Given the description of an element on the screen output the (x, y) to click on. 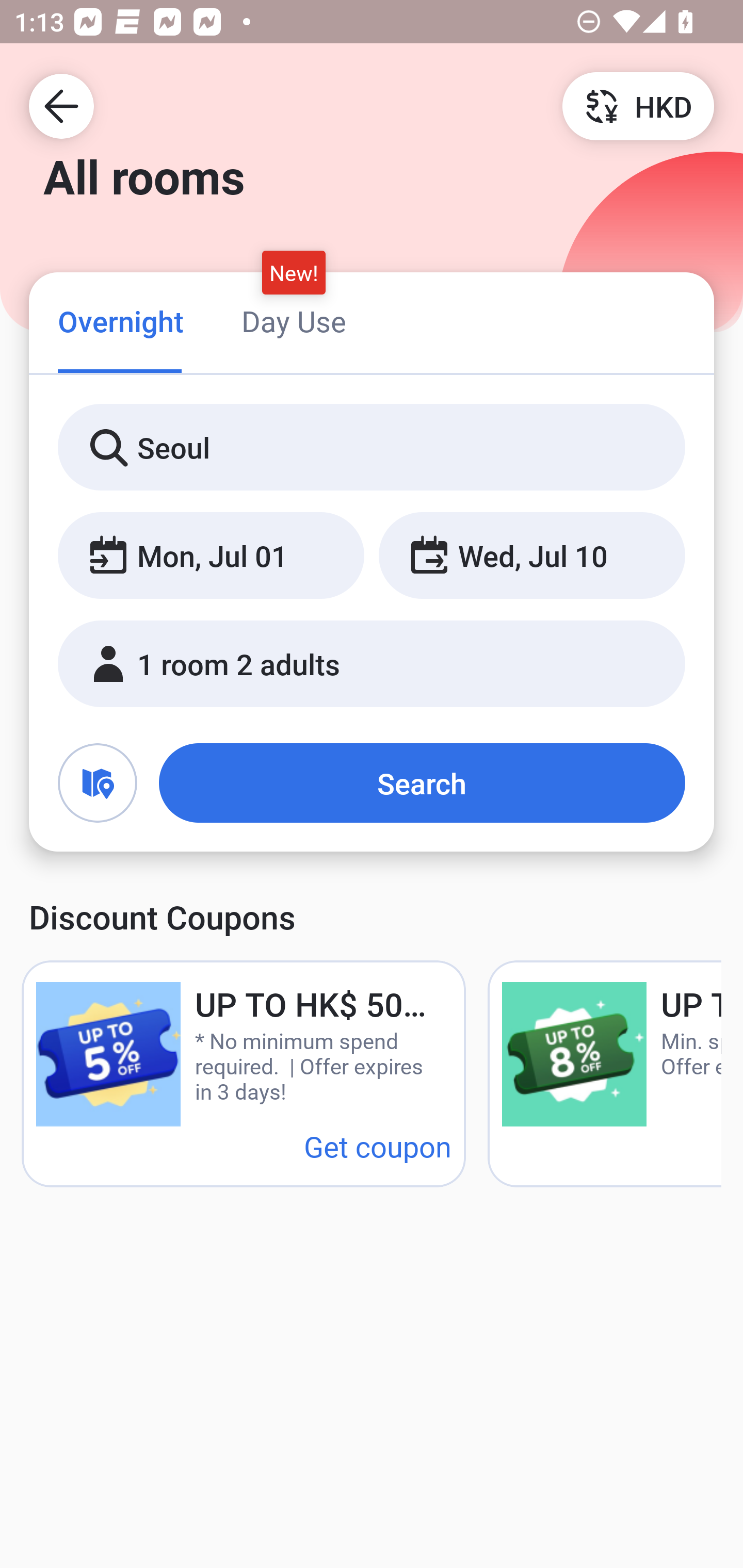
HKD (638, 105)
New! (294, 272)
Day Use (293, 321)
Seoul (371, 447)
Mon, Jul 01 (210, 555)
Wed, Jul 10 (531, 555)
1 room 2 adults (371, 663)
Search (422, 783)
Get coupon (377, 1146)
